Given the description of an element on the screen output the (x, y) to click on. 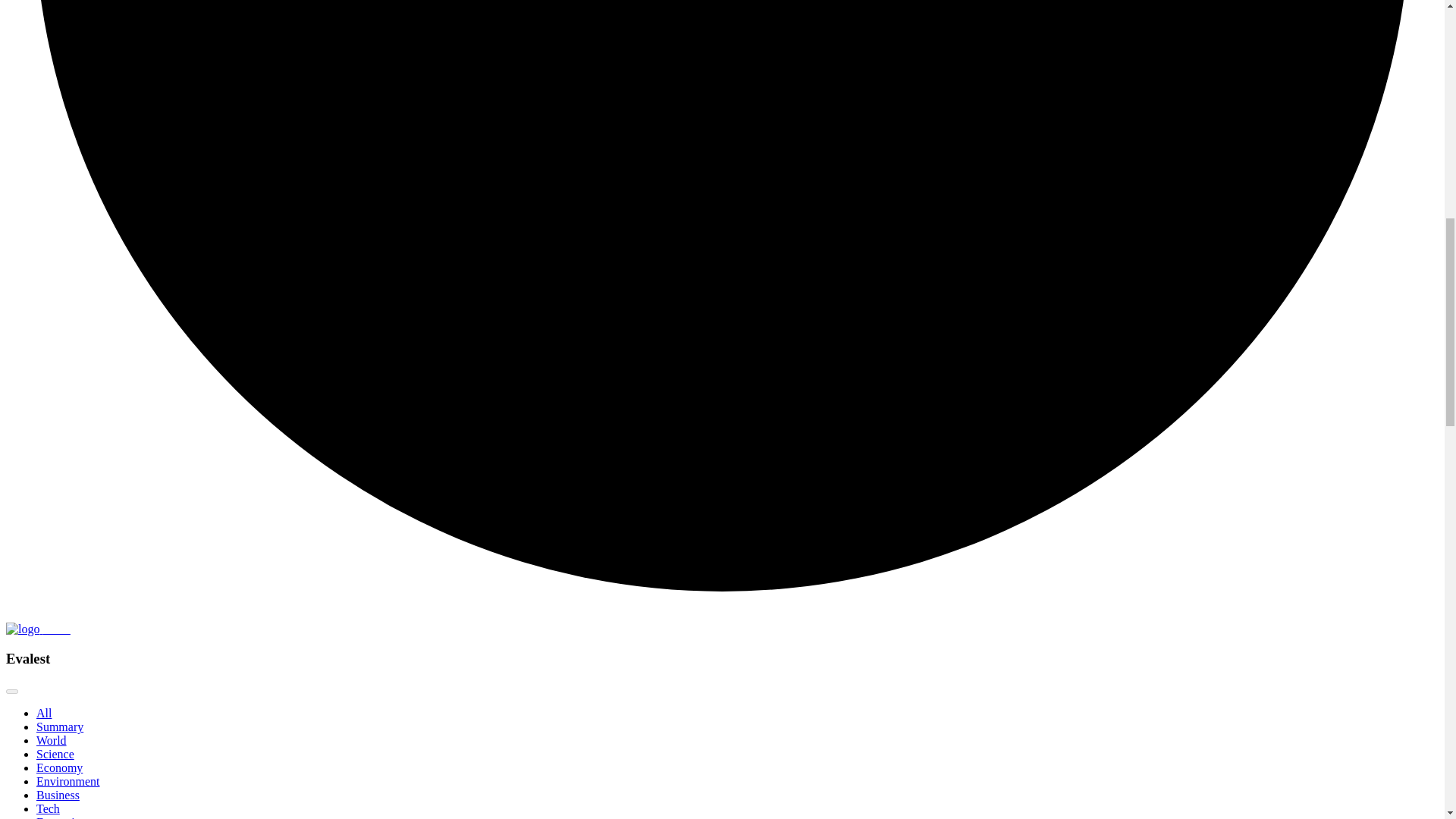
News (37, 629)
Business (58, 794)
Tech (47, 808)
Science (55, 753)
All (43, 712)
Entertainment (70, 817)
Environment (68, 780)
Summary (59, 726)
World (51, 739)
Economy (59, 767)
